Given the description of an element on the screen output the (x, y) to click on. 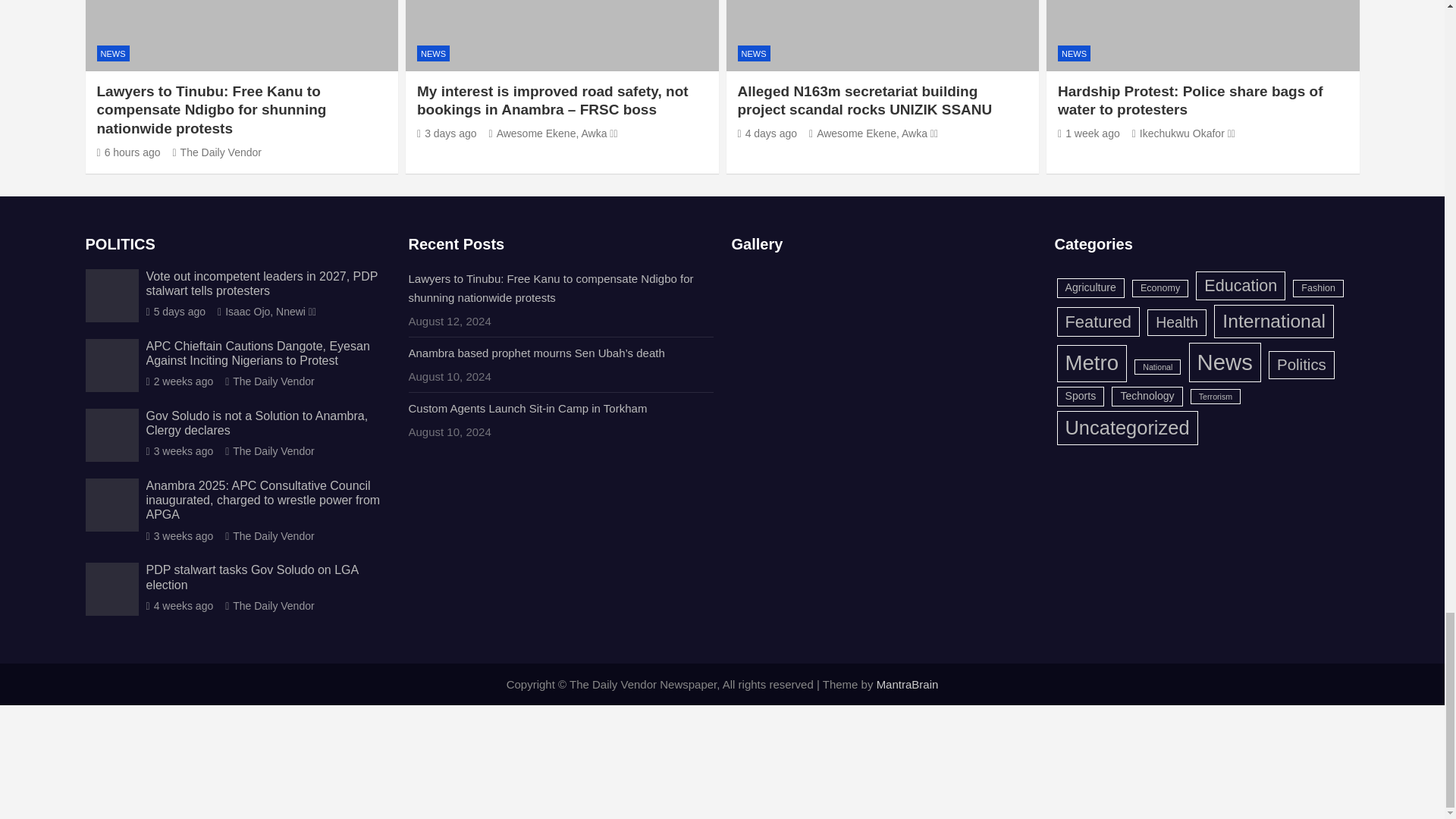
Hardship Protest: Police share bags of water to protesters (1088, 133)
